Given the description of an element on the screen output the (x, y) to click on. 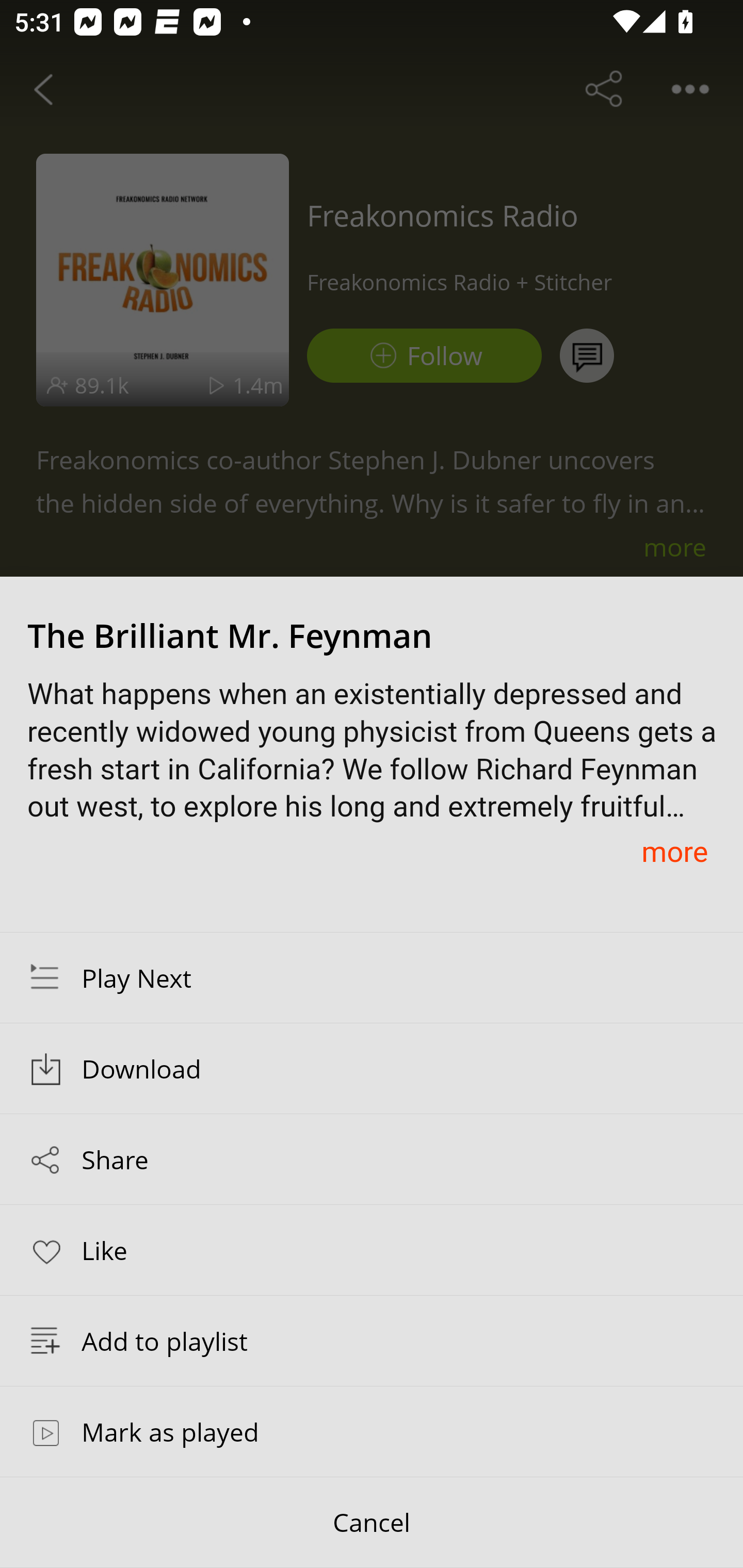
more (674, 851)
Play Next (371, 977)
Download (371, 1068)
Share (371, 1159)
Like (371, 1249)
Add to playlist (371, 1340)
Mark as played (371, 1431)
Cancel (371, 1522)
